Given the description of an element on the screen output the (x, y) to click on. 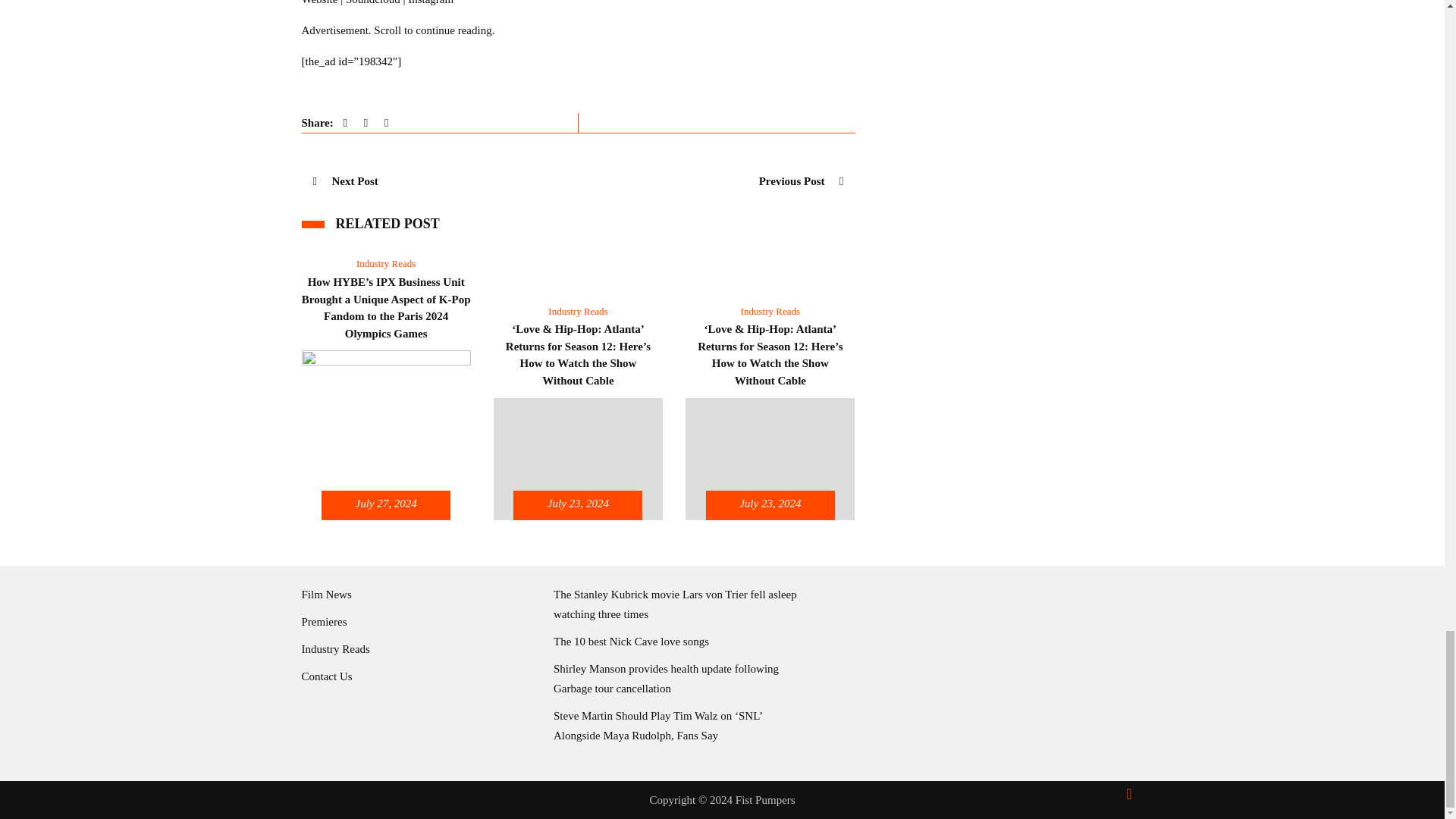
Next Post (345, 180)
Instagram (429, 4)
Website (319, 4)
Previous Post (801, 180)
Soundcloud (373, 4)
